Given the description of an element on the screen output the (x, y) to click on. 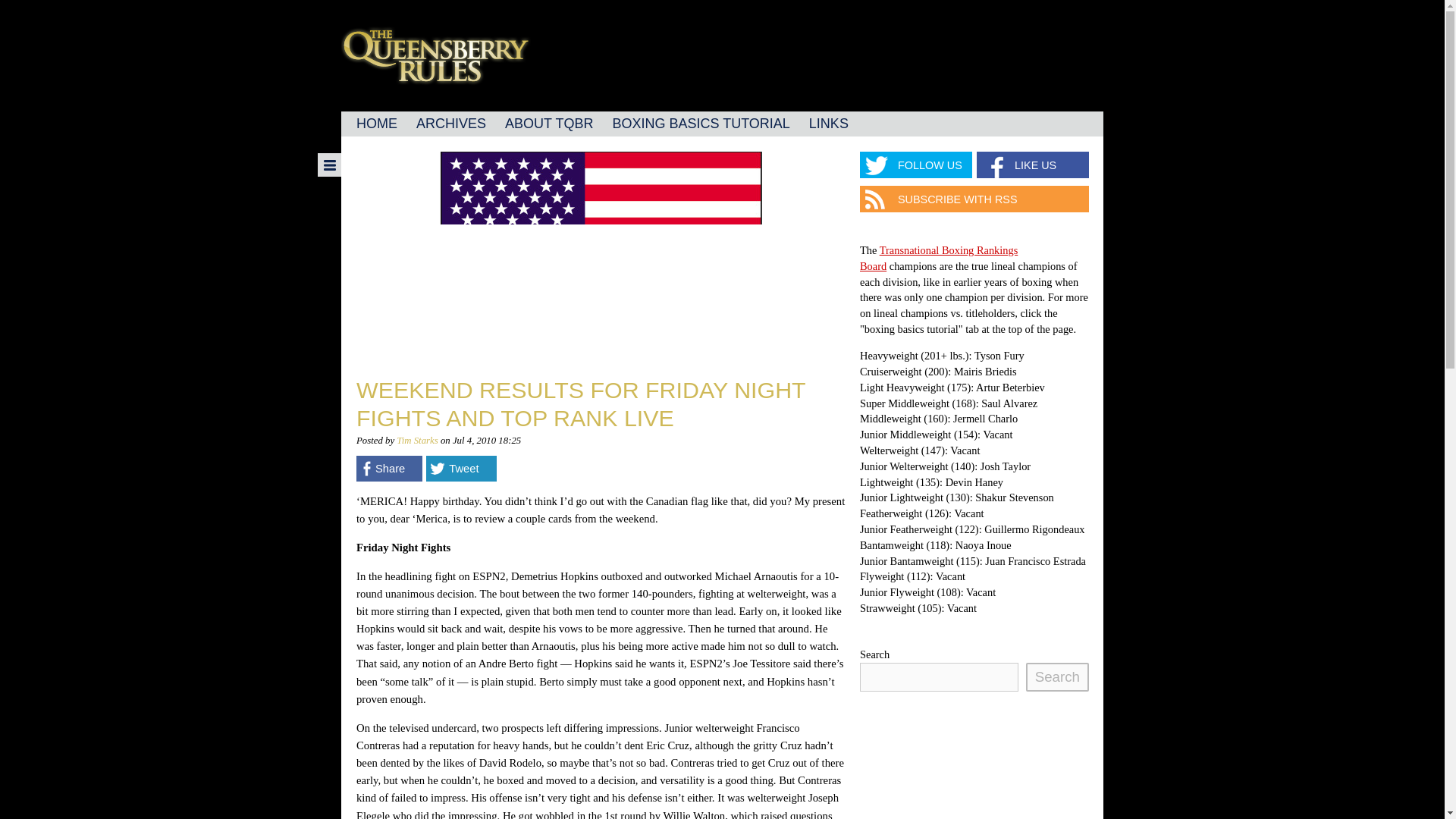
Transnational Boxing Rankings Board (938, 257)
SUBSCRIBE WITH RSS (974, 198)
HOME (376, 123)
Tim Starks (417, 439)
Search (1057, 676)
LINKS (829, 123)
ABOUT TQBR (548, 123)
ARCHIVES (451, 123)
LIKE US (1032, 164)
Weekend Results For Friday Night Fights And Top Rank Live (580, 403)
Tweet (461, 468)
WEEKEND RESULTS FOR FRIDAY NIGHT FIGHTS AND TOP RANK LIVE (580, 403)
Share (389, 468)
FOLLOW US (916, 164)
BOXING BASICS TUTORIAL (700, 123)
